Given the description of an element on the screen output the (x, y) to click on. 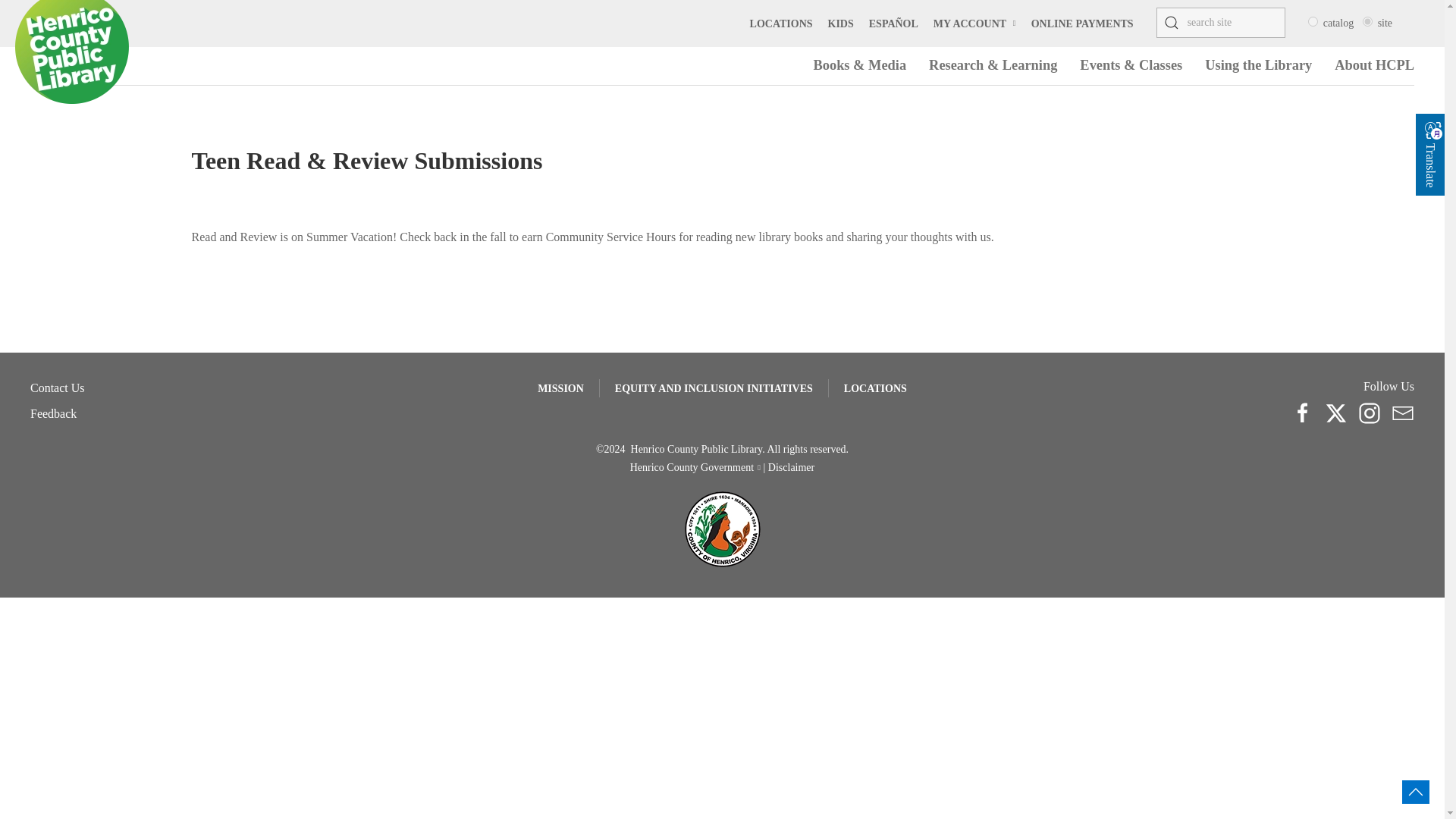
LOCATIONS (780, 23)
site (1367, 21)
KIDS (840, 23)
 Translate this Site (1432, 130)
ONLINE PAYMENTS (1082, 23)
MY ACCOUNT (974, 23)
Using the Library (1258, 65)
catalog (1312, 21)
About HCPL (1374, 65)
